Given the description of an element on the screen output the (x, y) to click on. 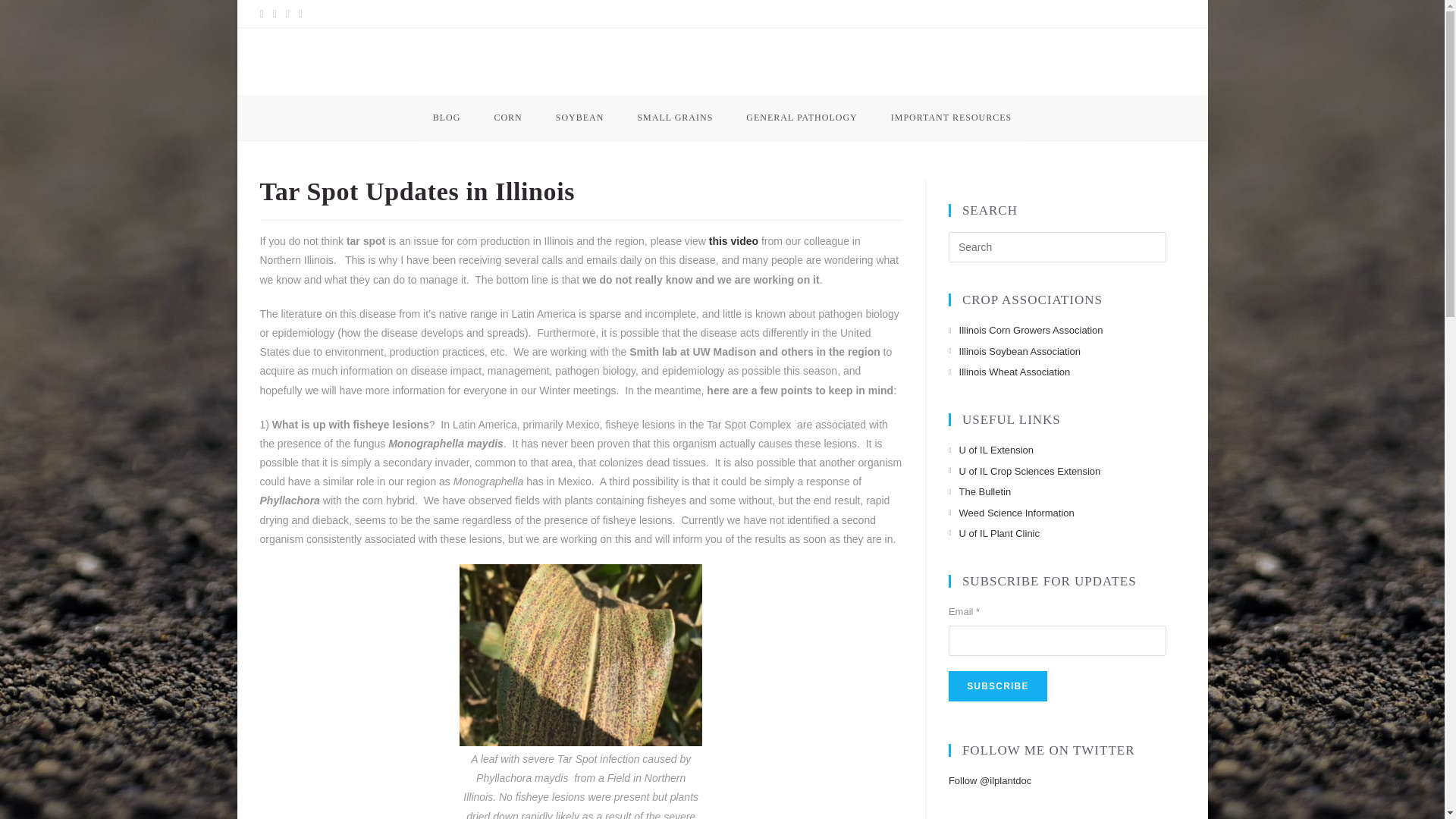
U of IL Extension (991, 449)
this video (733, 241)
Subscribe (997, 685)
U of IL Crop Sciences Extension (1024, 470)
The Bulletin (979, 491)
CORN (507, 117)
Illinois Corn Growers Association (1026, 330)
BLOG (446, 117)
ILLINOIS FIELD CROP DISEASE HUB (433, 59)
Contact (1160, 13)
